Given the description of an element on the screen output the (x, y) to click on. 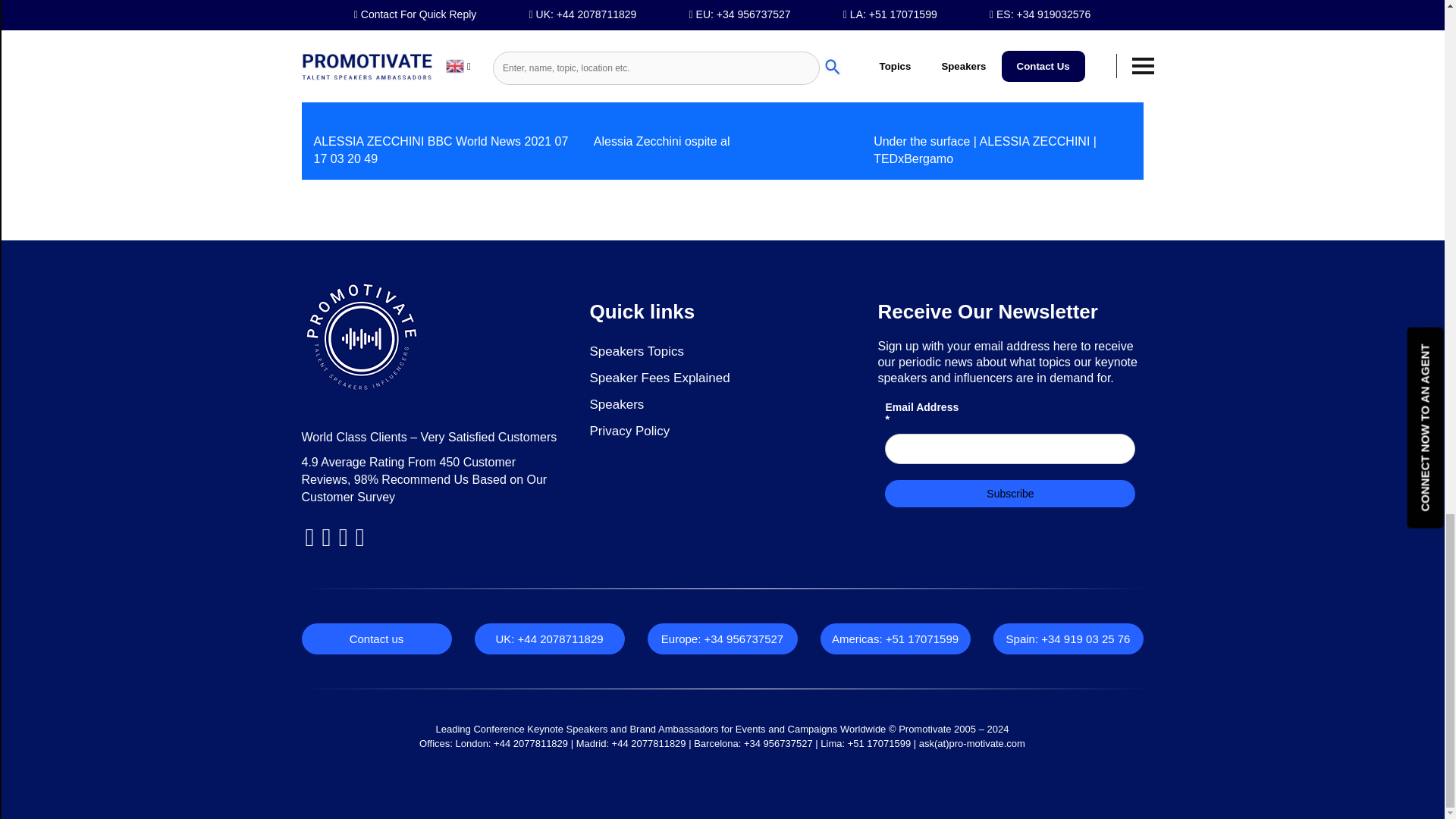
Subscribe (1010, 492)
